Given the description of an element on the screen output the (x, y) to click on. 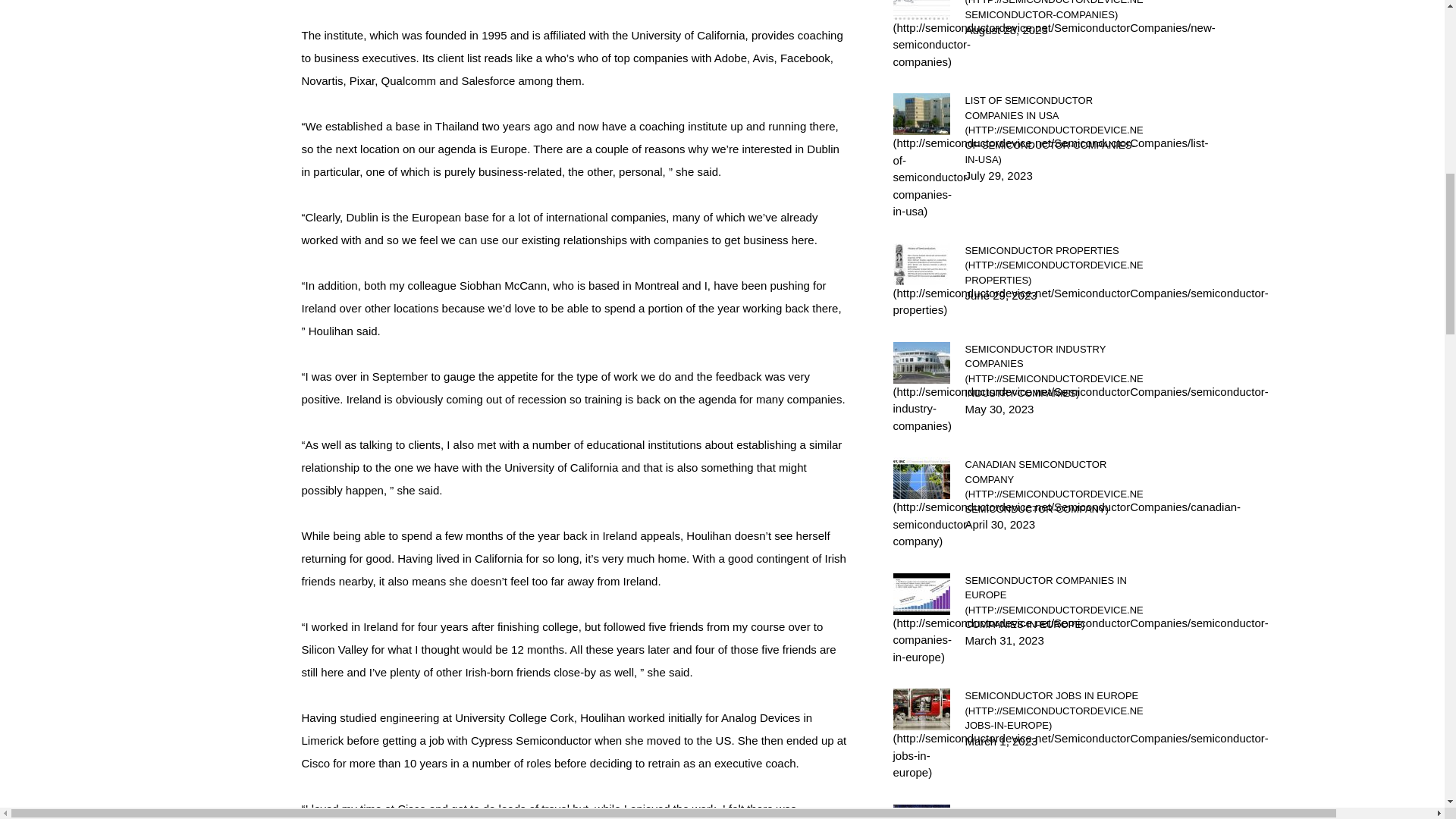
SEMICONDUCTOR PROPERTIES (1052, 264)
NEW SEMICONDUCTOR COMPANIES (1052, 11)
LIST OF SEMICONDUCTOR COMPANIES IN USA (1052, 130)
